Given the description of an element on the screen output the (x, y) to click on. 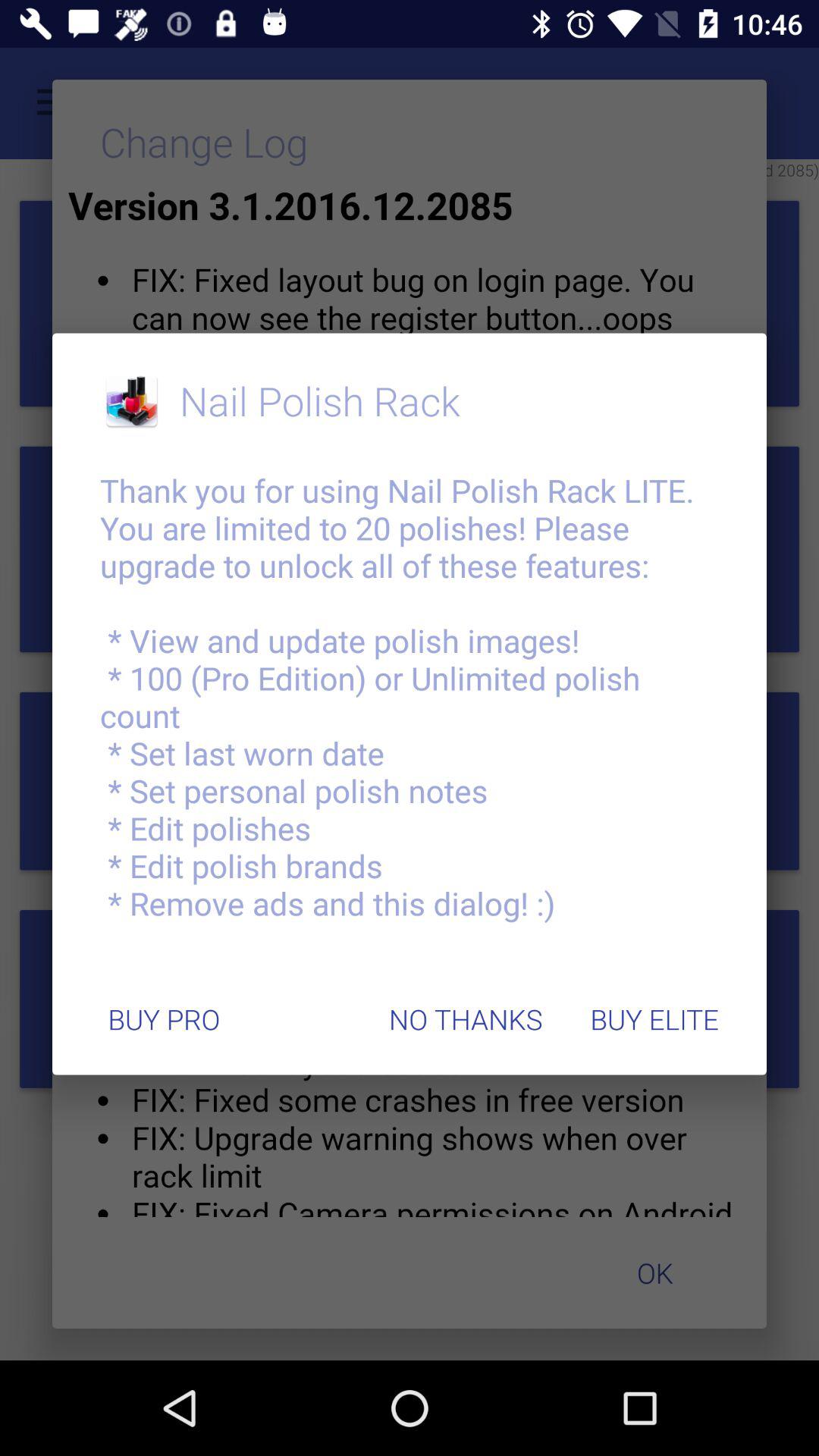
launch icon at the bottom right corner (654, 1018)
